Given the description of an element on the screen output the (x, y) to click on. 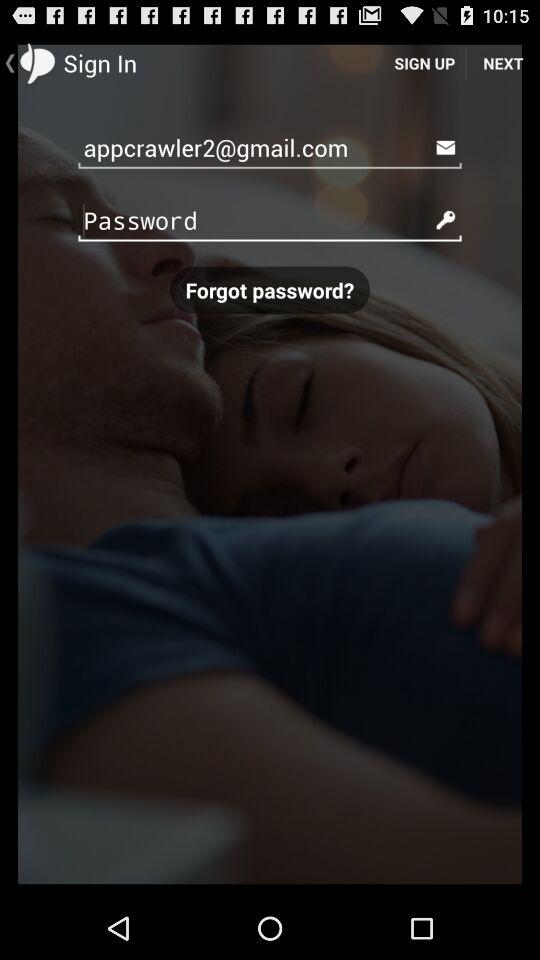
jump until the appcrawler2@gmail.com icon (269, 146)
